Given the description of an element on the screen output the (x, y) to click on. 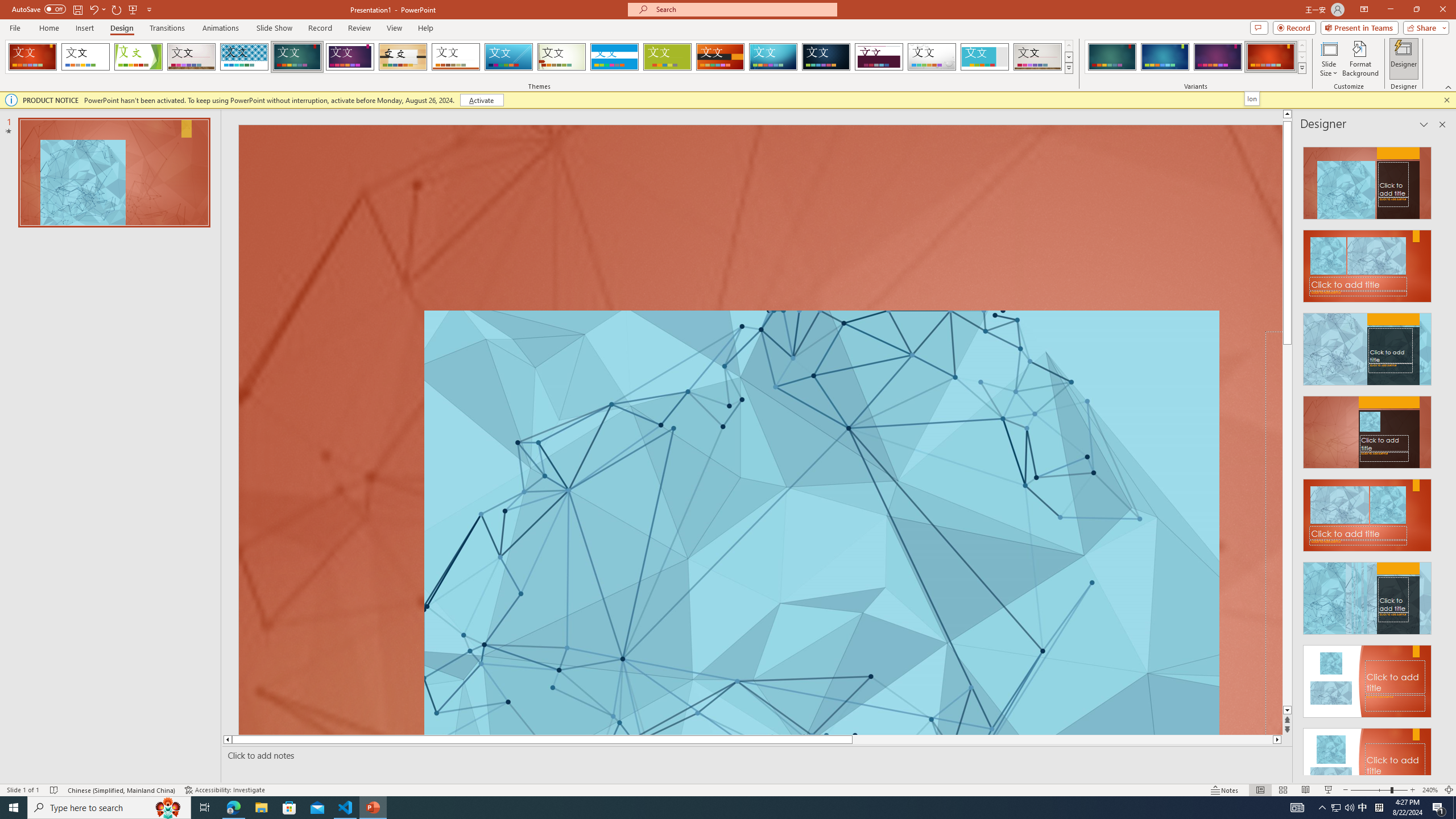
Frame (984, 56)
Ion Variant 4 (1270, 56)
AutomationID: SlideThemesGallery (539, 56)
